Given the description of an element on the screen output the (x, y) to click on. 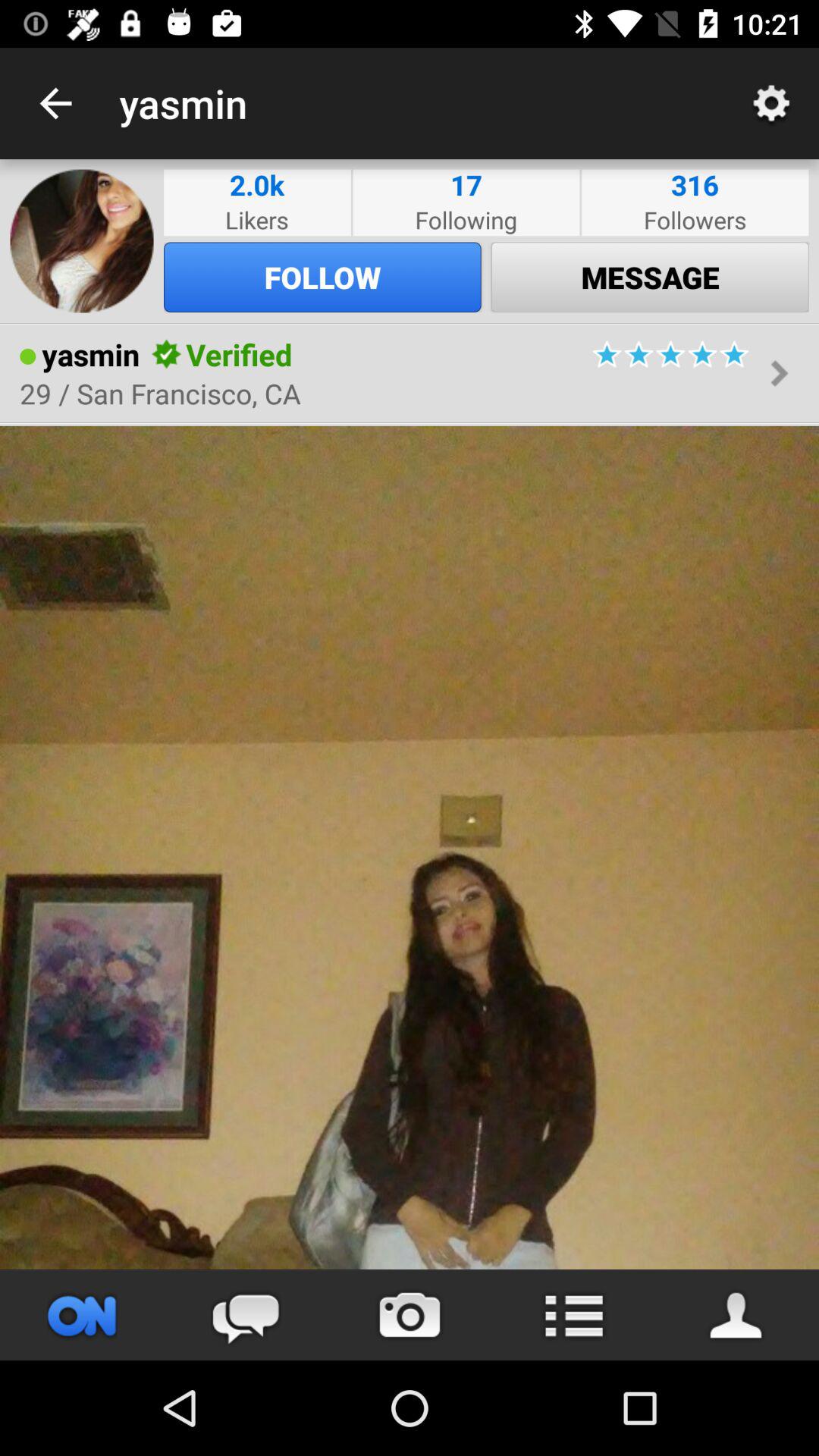
choose the followers (694, 219)
